Given the description of an element on the screen output the (x, y) to click on. 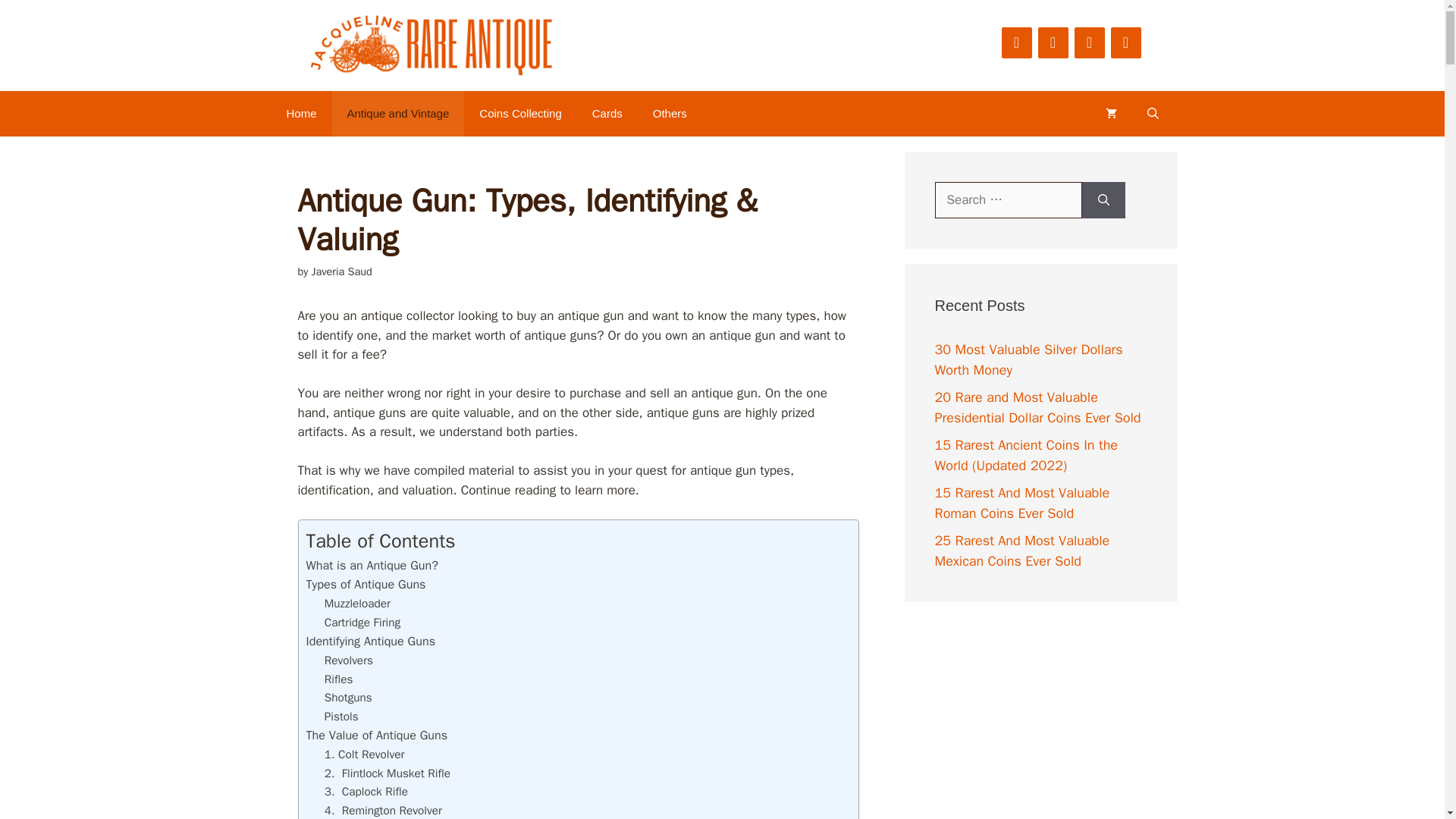
Twitter (1088, 42)
Types of Antique Guns (365, 584)
Identifying Antique Guns (370, 641)
Muzzleloader (357, 603)
1. Colt Revolver (364, 754)
2.  Flintlock Musket Rifle (386, 773)
Cartridge Firing (362, 622)
Cards (606, 113)
Shotguns (348, 697)
Types of Antique Guns (365, 584)
